Given the description of an element on the screen output the (x, y) to click on. 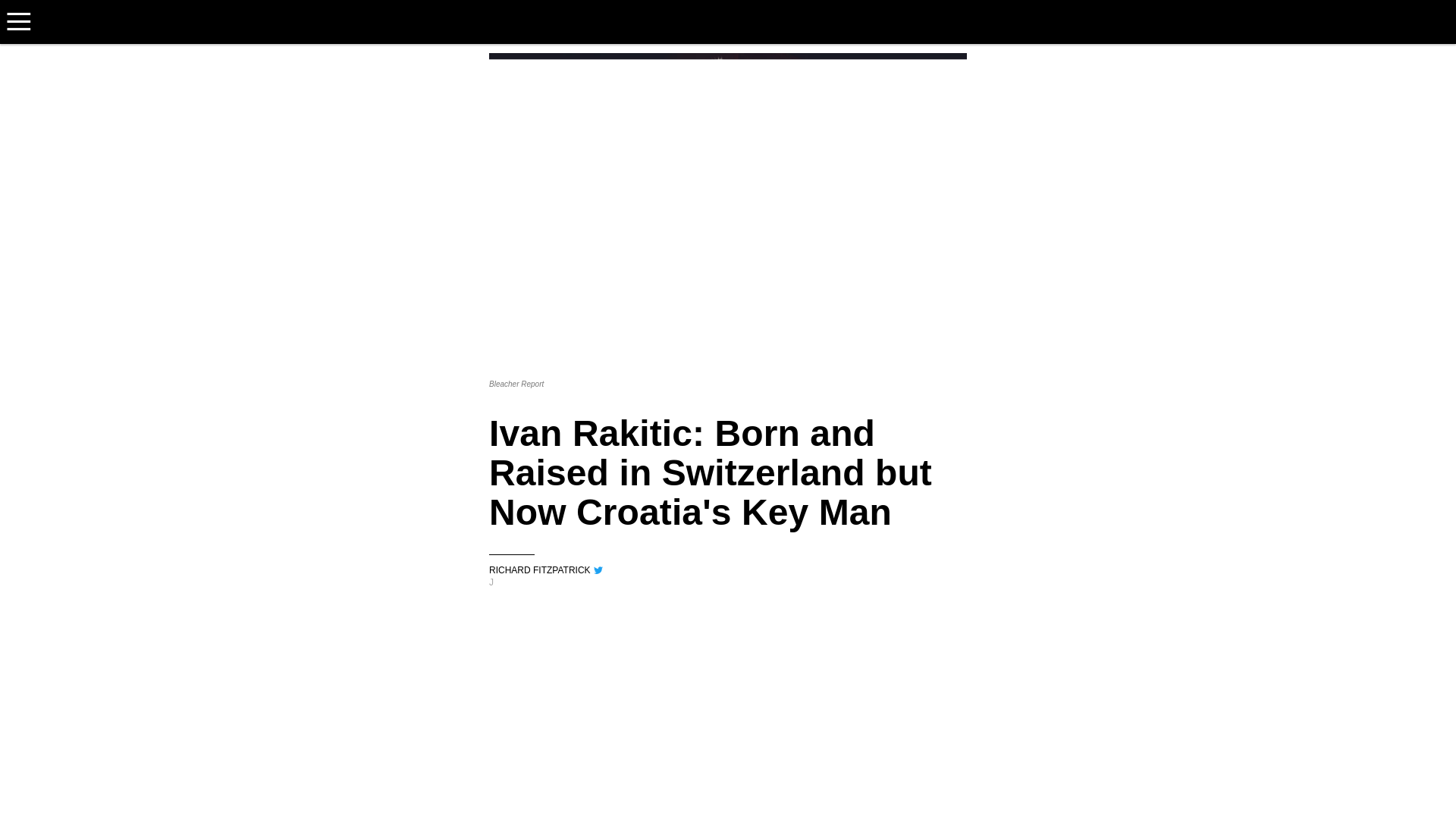
RICHARD FITZPATRICK (727, 565)
Special to Bleacher Report (727, 565)
TWITTER LOGO (598, 569)
